Given the description of an element on the screen output the (x, y) to click on. 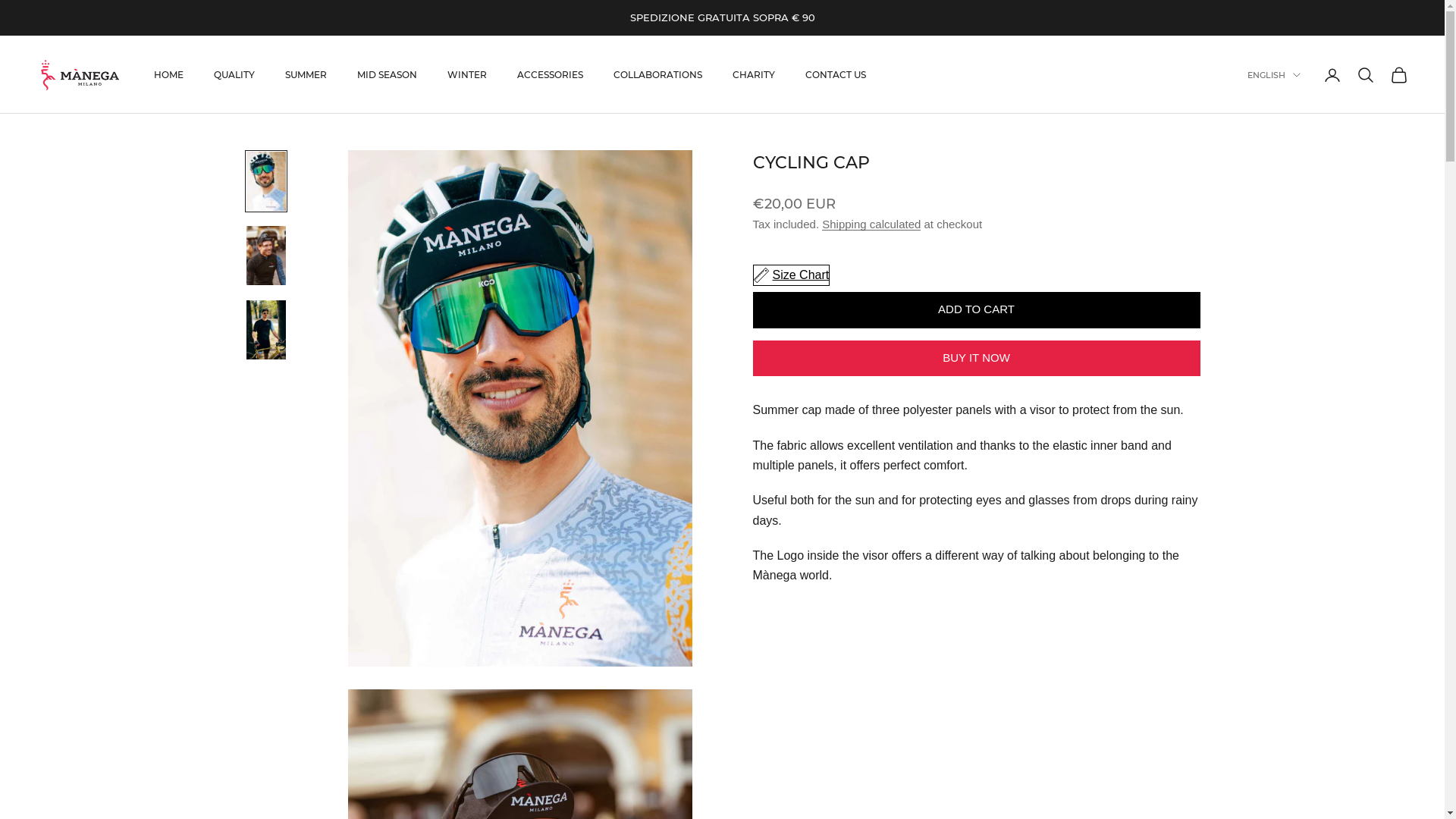
COLLABORATIONS Element type: text (657, 74)
Open search Element type: text (1365, 74)
BUY IT NOW Element type: text (975, 358)
HOME Element type: text (168, 74)
MID SEASON Element type: text (387, 74)
Shipping calculated Element type: text (871, 223)
Open cart Element type: text (1399, 74)
CHARITY Element type: text (753, 74)
QUALITY Element type: text (233, 74)
Open account page Element type: text (1332, 74)
CONTACT US Element type: text (835, 74)
Size Chart Element type: text (790, 274)
ADD TO CART Element type: text (975, 309)
ENGLISH Element type: text (1273, 74)
ACCESSORIES Element type: text (550, 74)
